Given the description of an element on the screen output the (x, y) to click on. 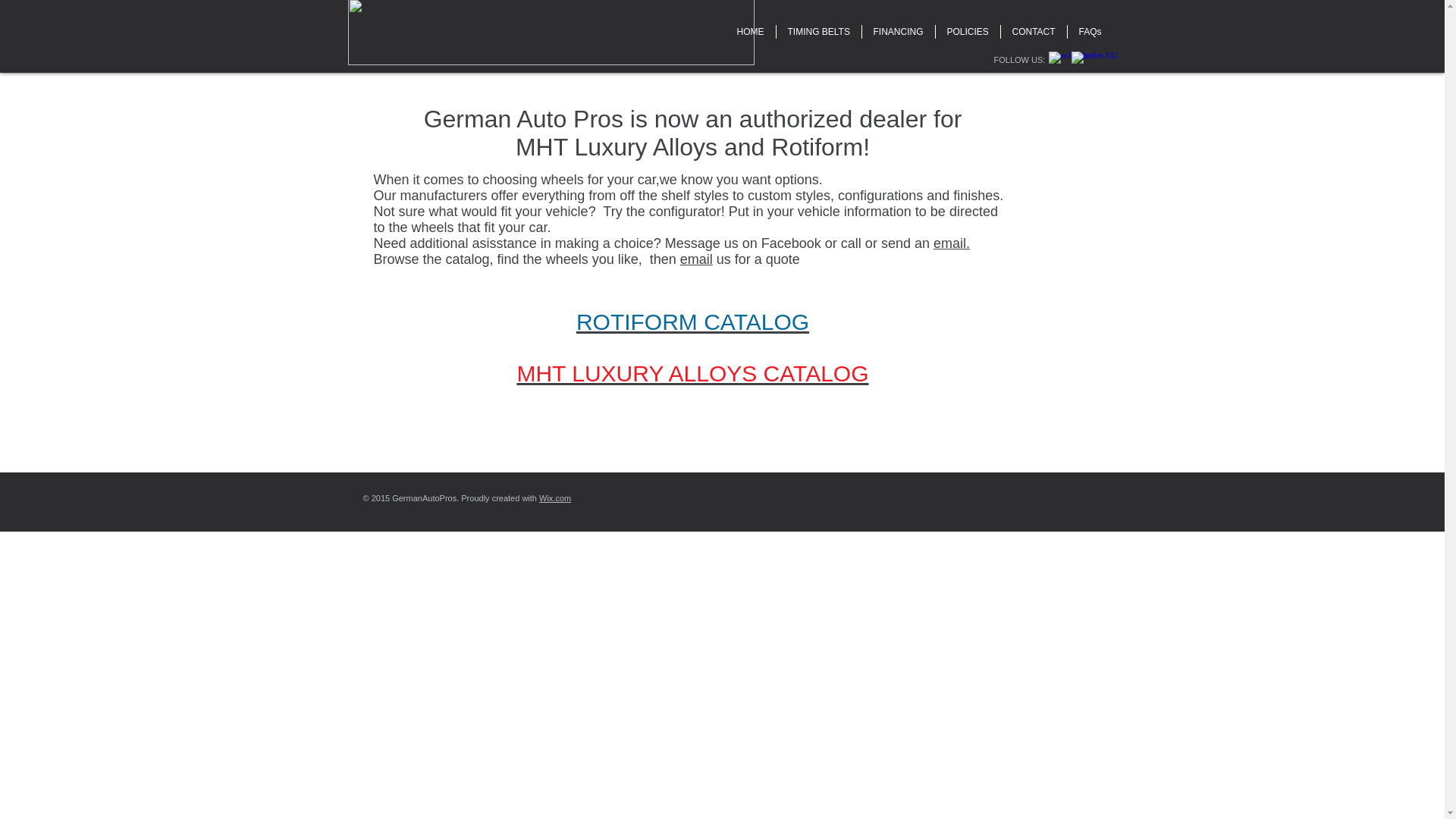
MHT LUXURY ALLOYS CATALOG (691, 386)
email (696, 258)
FINANCING (897, 31)
CONTACT (1034, 31)
POLICIES (968, 31)
Wix.com (554, 497)
ROTIFORM CATALOG (692, 321)
TIMING BELTS (818, 31)
HOME (749, 31)
email. (951, 242)
